Given the description of an element on the screen output the (x, y) to click on. 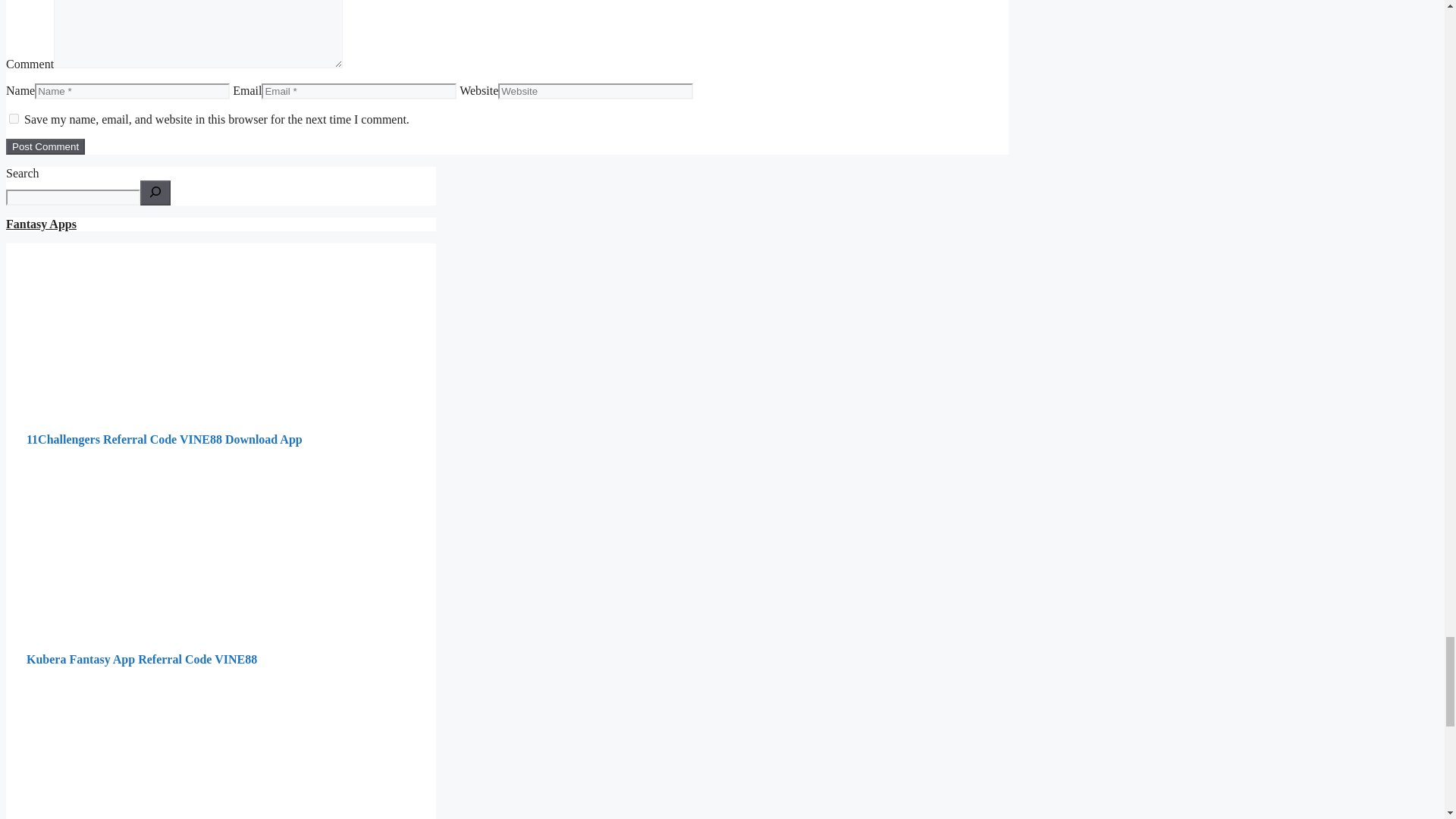
Kubera Fantasy App Referral Code VINE88 (141, 658)
Post Comment (44, 146)
Post Comment (44, 146)
yes (13, 118)
11Challengers Referral Code VINE88 Download App (164, 439)
